Given the description of an element on the screen output the (x, y) to click on. 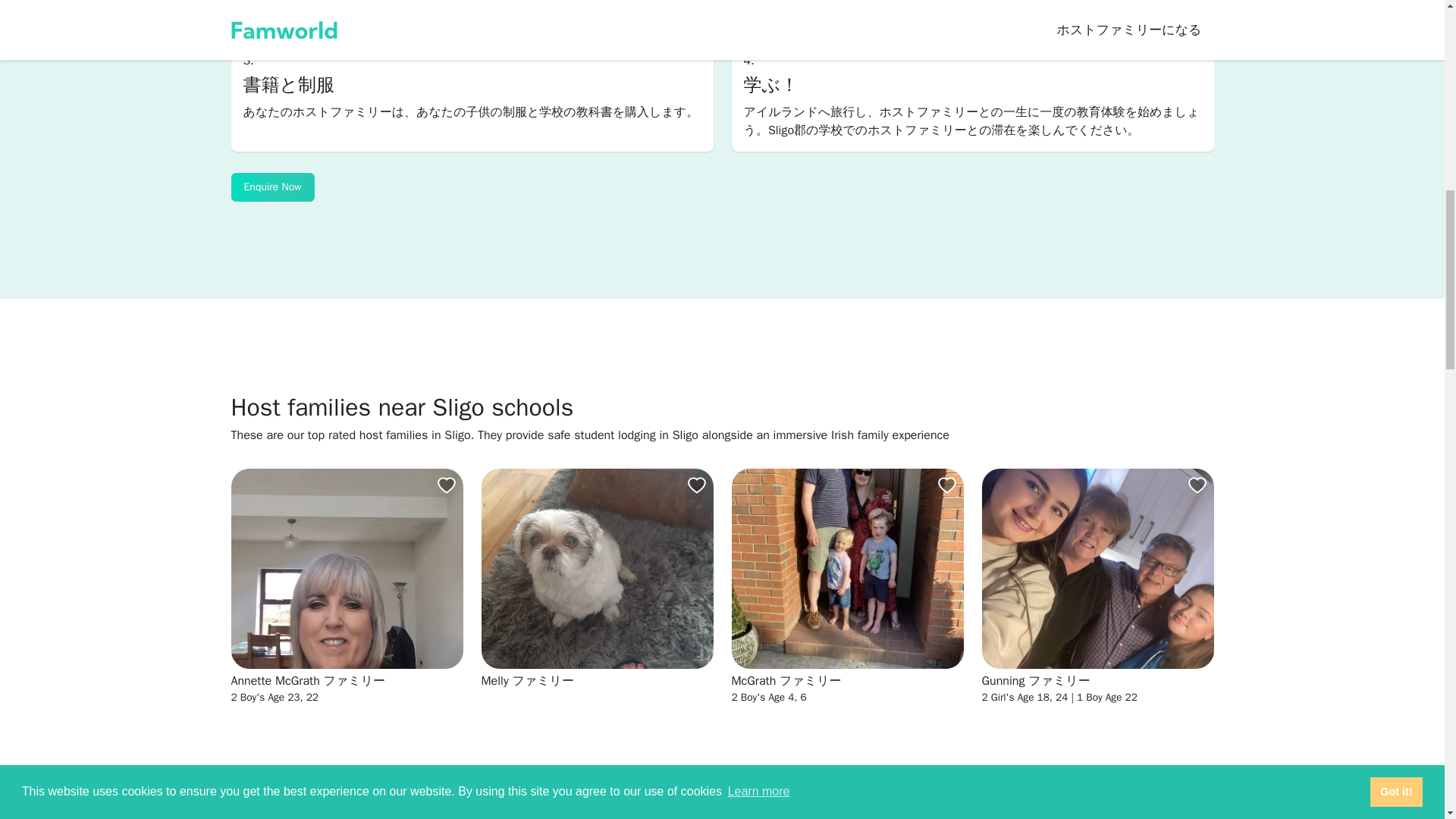
Enquire Now (272, 186)
